Given the description of an element on the screen output the (x, y) to click on. 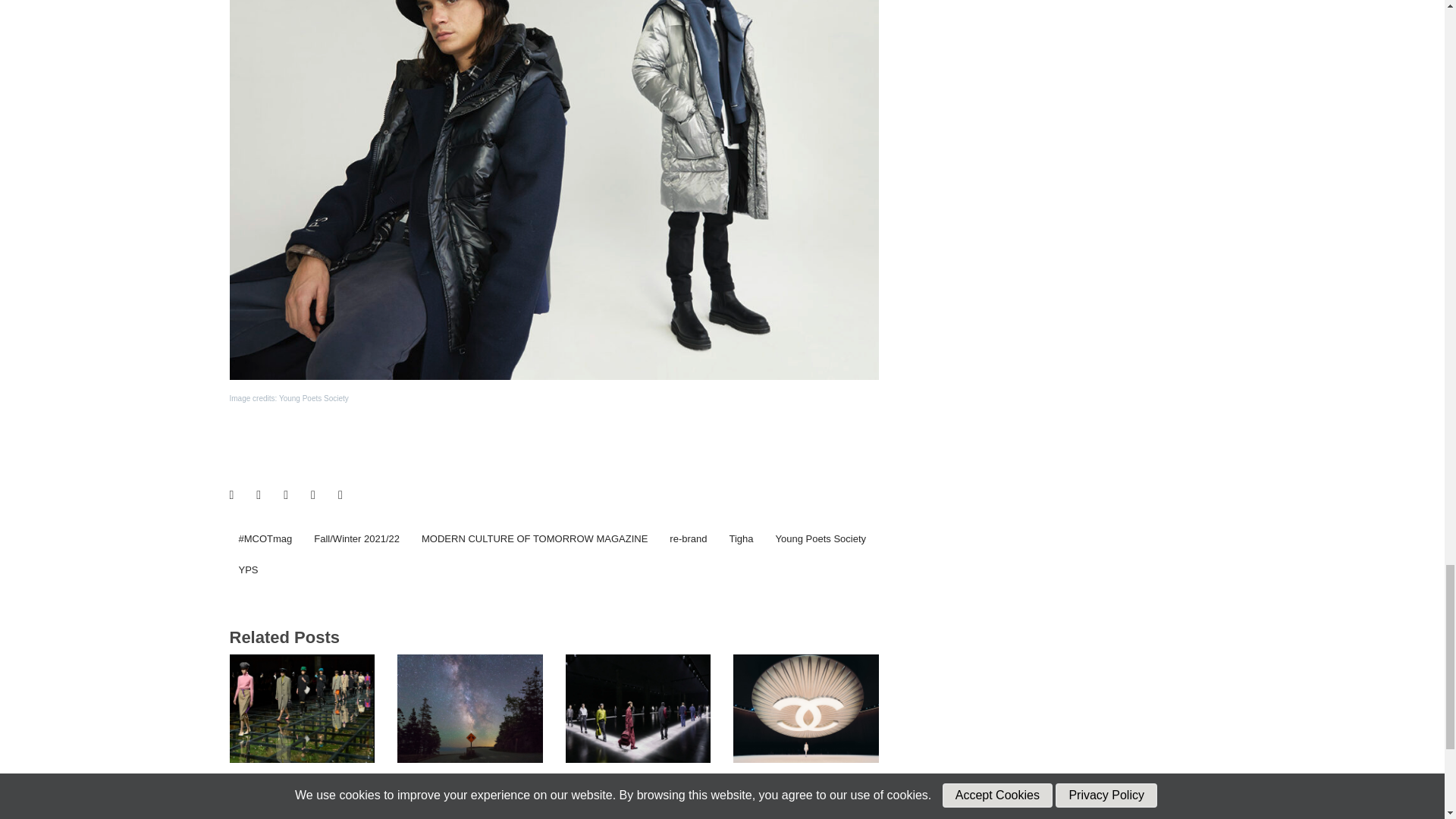
Tigha (740, 538)
MODERN CULTURE OF TOMORROW MAGAZINE (534, 538)
re-brand (688, 538)
